Given the description of an element on the screen output the (x, y) to click on. 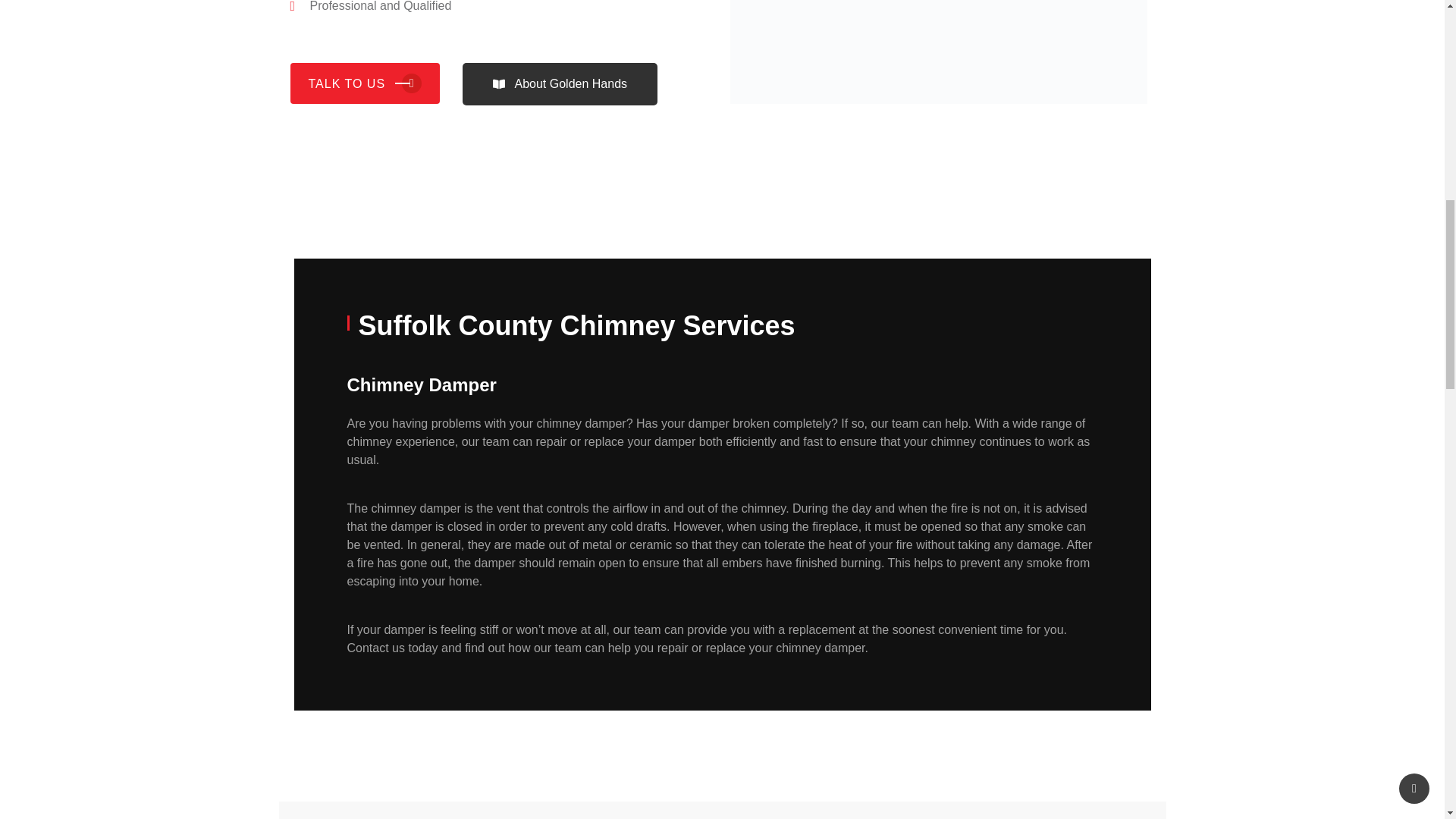
Chimney Damper (938, 52)
